Given the description of an element on the screen output the (x, y) to click on. 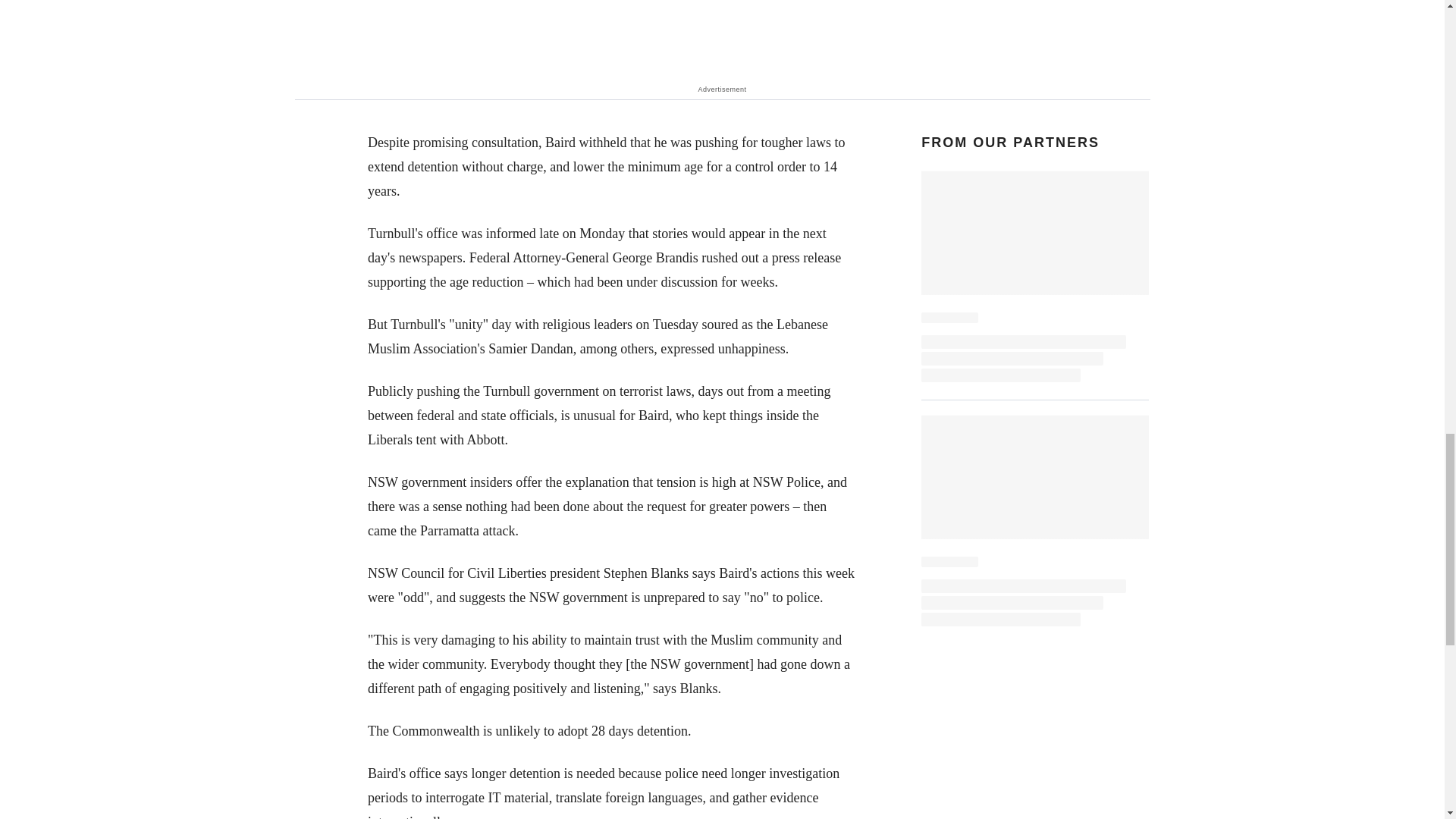
3rd party ad content (722, 40)
